Given the description of an element on the screen output the (x, y) to click on. 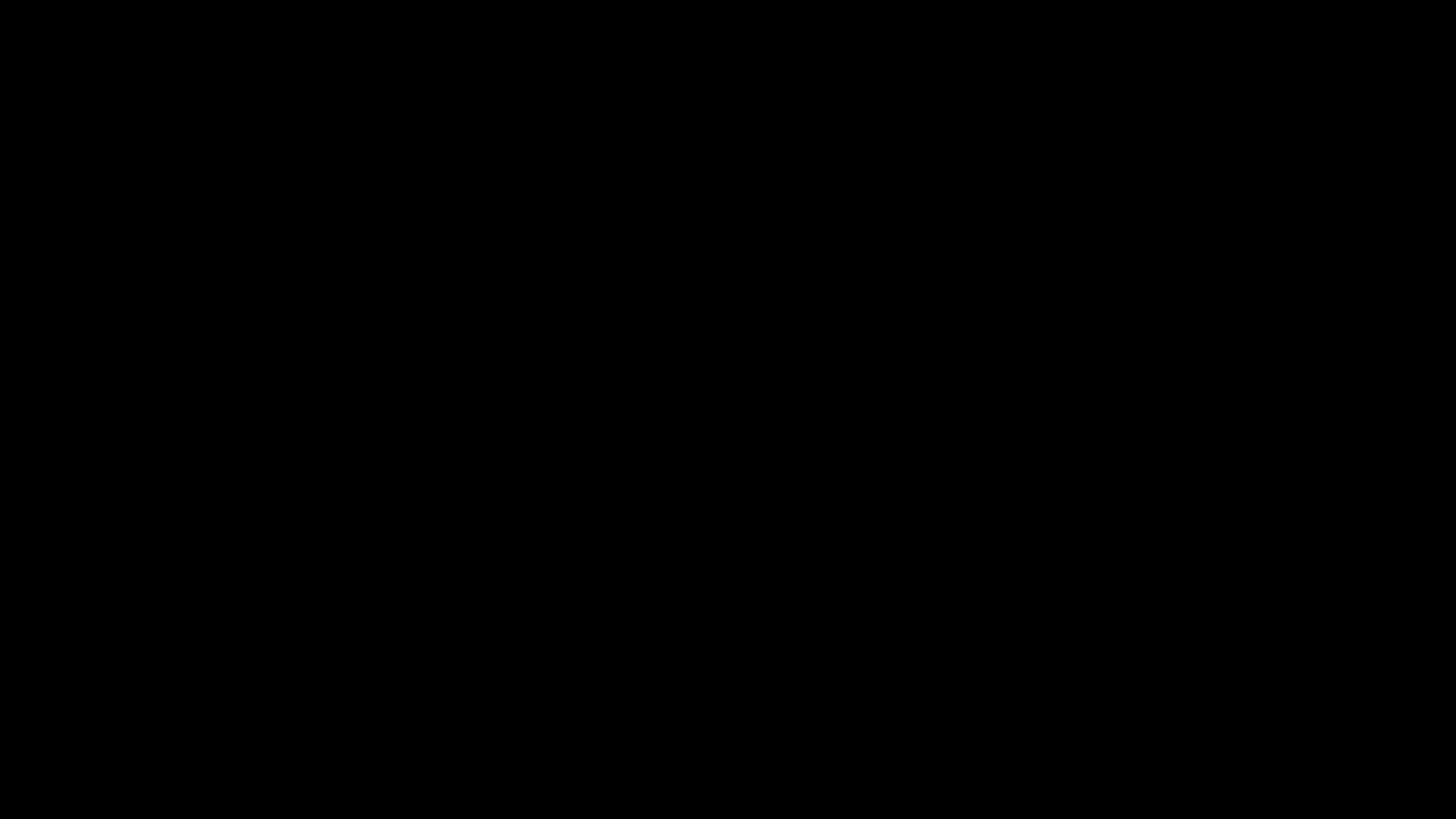
ask Element type: text (727, 473)
@ Element type: text (727, 622)
wrk Element type: text (727, 376)
nft Element type: text (727, 424)
30000fps Element type: text (692, 663)
bot Element type: text (727, 521)
pause_circle_filled Element type: text (727, 279)
nfo Element type: text (727, 327)
